Given the description of an element on the screen output the (x, y) to click on. 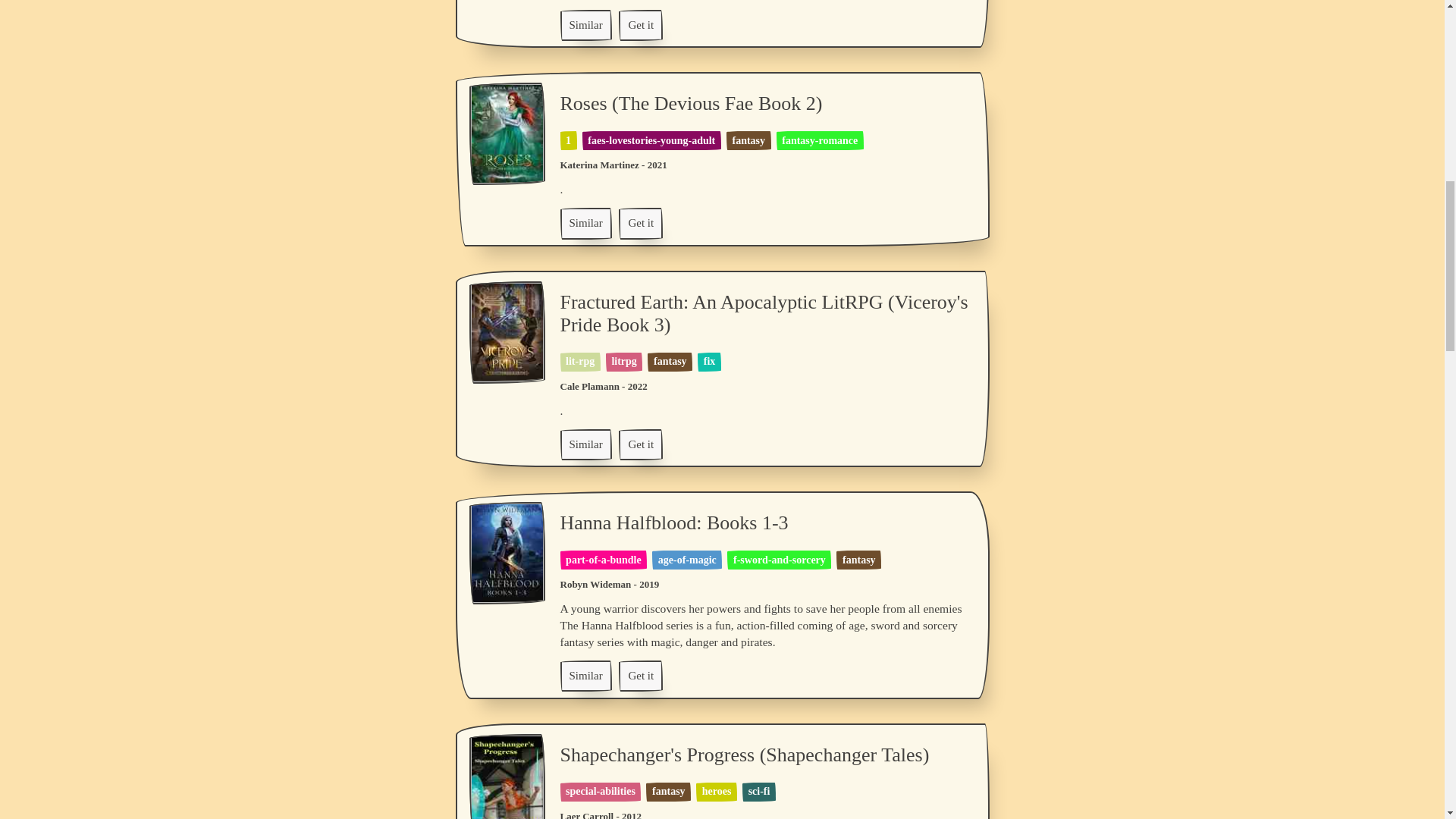
Get it (640, 223)
Similar (585, 223)
Similar (585, 24)
fix (709, 360)
Get it (640, 223)
fantasy-romance (819, 140)
Similar (585, 223)
lit-rpg (580, 360)
Get it (640, 24)
fantasy (670, 360)
fantasy (748, 140)
Similar (585, 24)
Get it (640, 24)
faes-lovestories-young-adult (651, 140)
litrpg (623, 360)
